Given the description of an element on the screen output the (x, y) to click on. 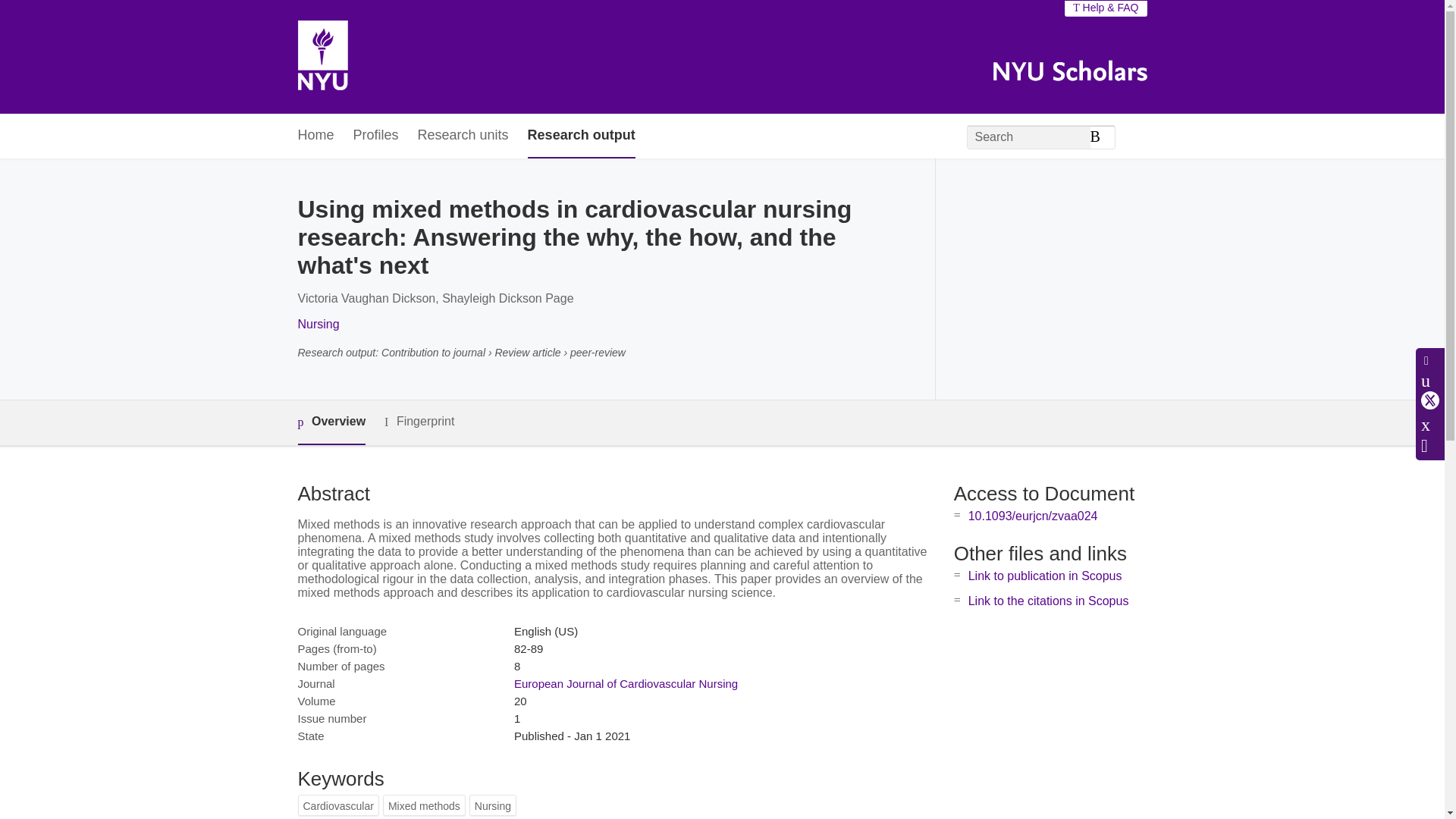
European Journal of Cardiovascular Nursing (625, 683)
Research units (462, 135)
Overview (331, 422)
Link to the citations in Scopus (1048, 600)
Nursing (318, 323)
Research output (580, 135)
Fingerprint (419, 421)
Profiles (375, 135)
Link to publication in Scopus (1045, 575)
